Given the description of an element on the screen output the (x, y) to click on. 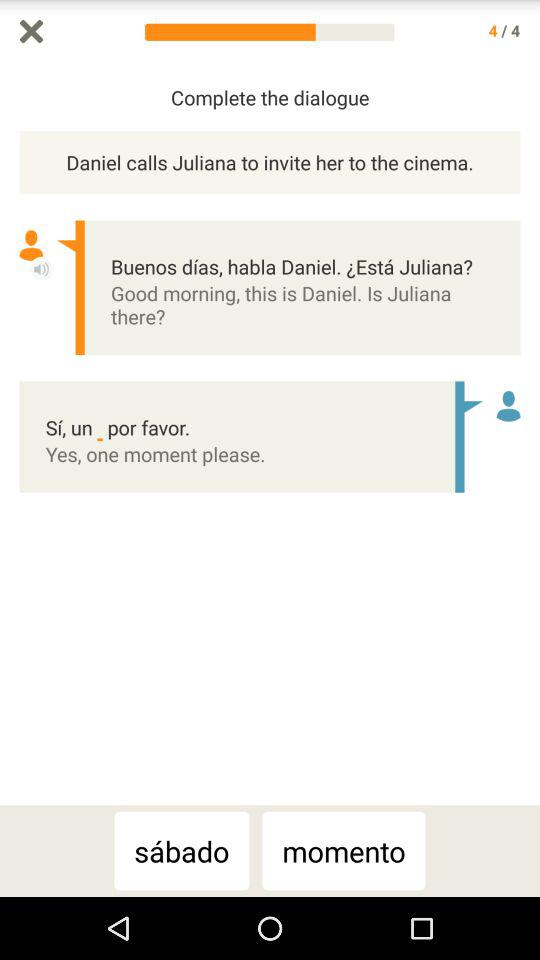
cancel and go back (31, 31)
